Given the description of an element on the screen output the (x, y) to click on. 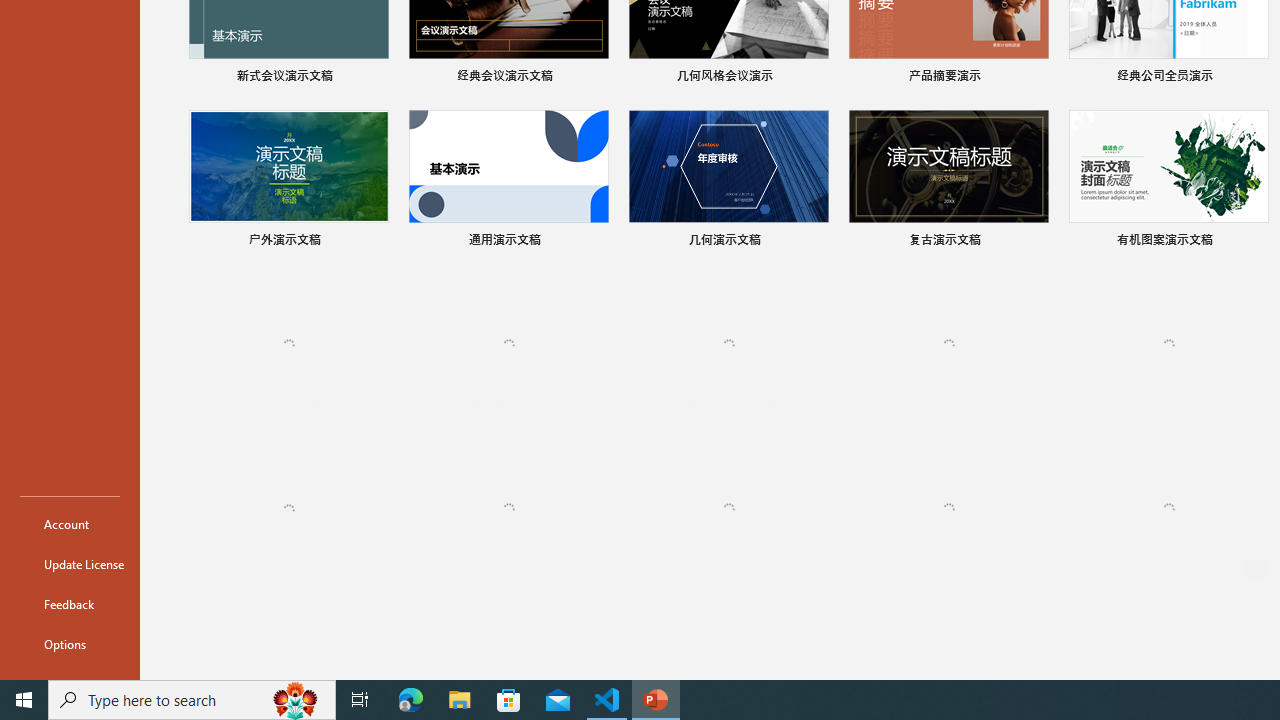
Unpin from list (1255, 569)
Feedback (69, 603)
